Given the description of an element on the screen output the (x, y) to click on. 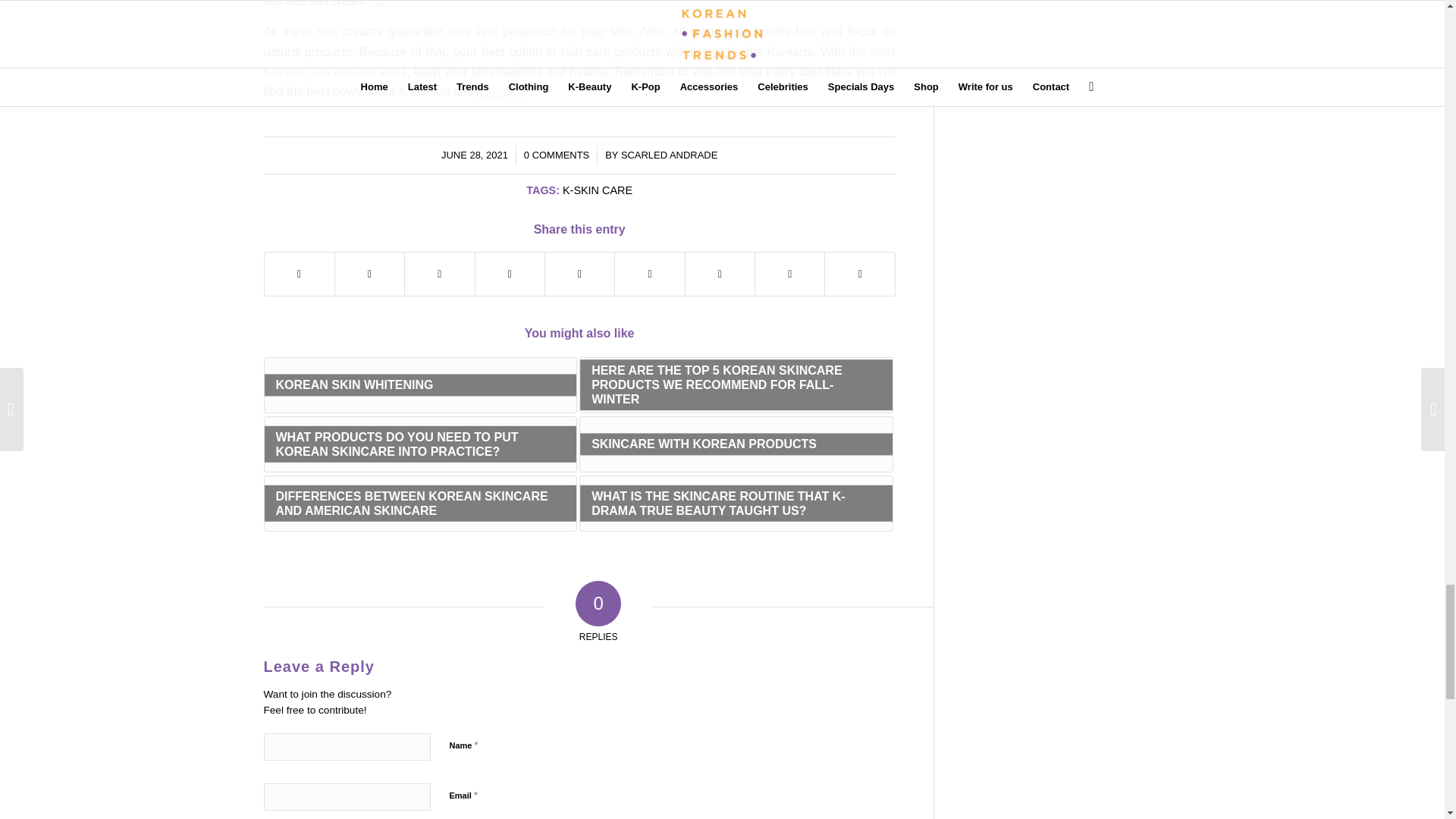
Posts by Scarled Andrade (669, 154)
Korean skin whitening (502, 91)
